Given the description of an element on the screen output the (x, y) to click on. 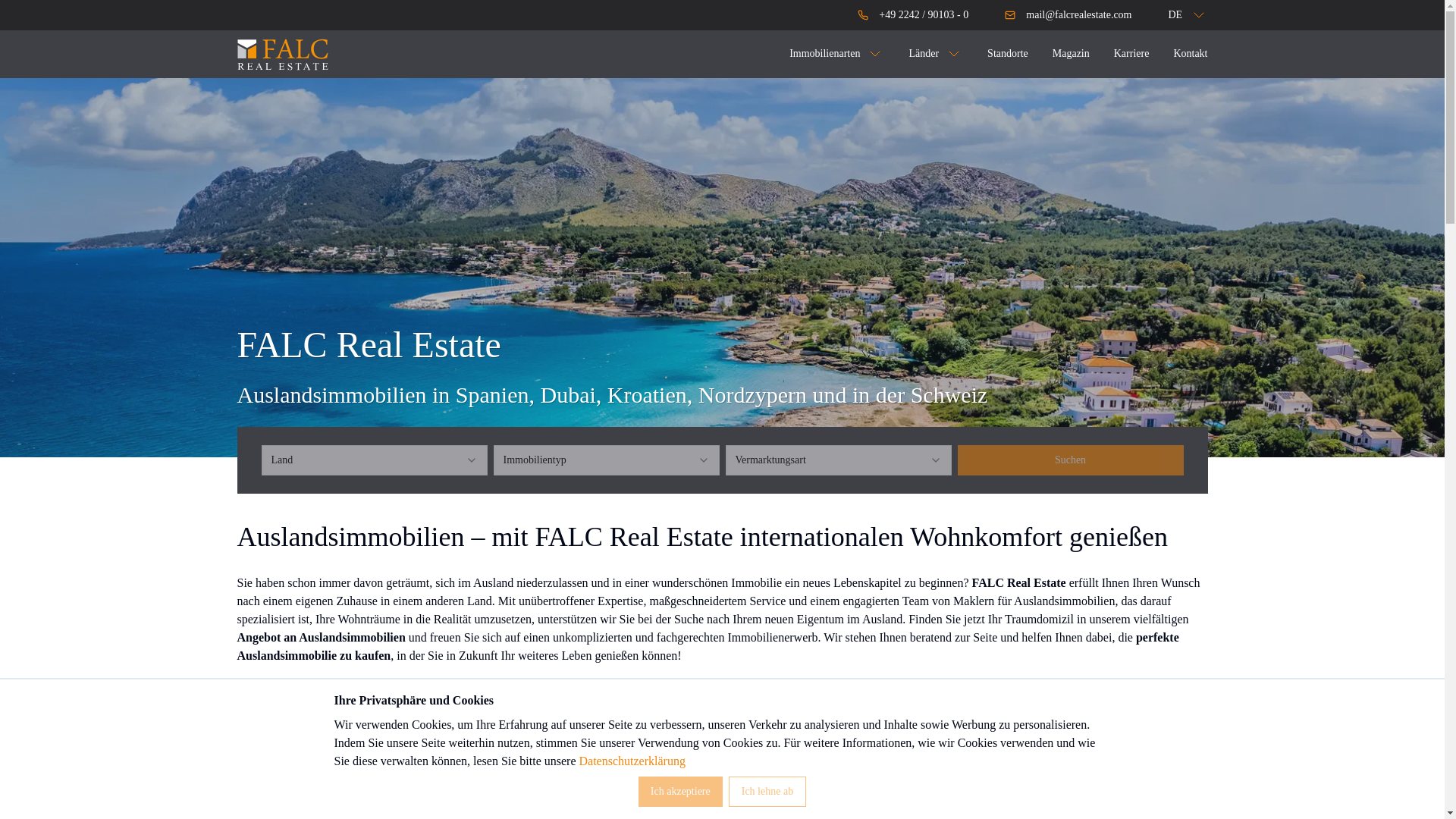
Standorte (1007, 53)
Immobilienarten (836, 54)
Ich lehne ab (767, 791)
Karriere (1131, 53)
Magazin (1070, 53)
DE (1176, 14)
Ich akzeptiere (680, 791)
Kontakt (1190, 53)
